Given the description of an element on the screen output the (x, y) to click on. 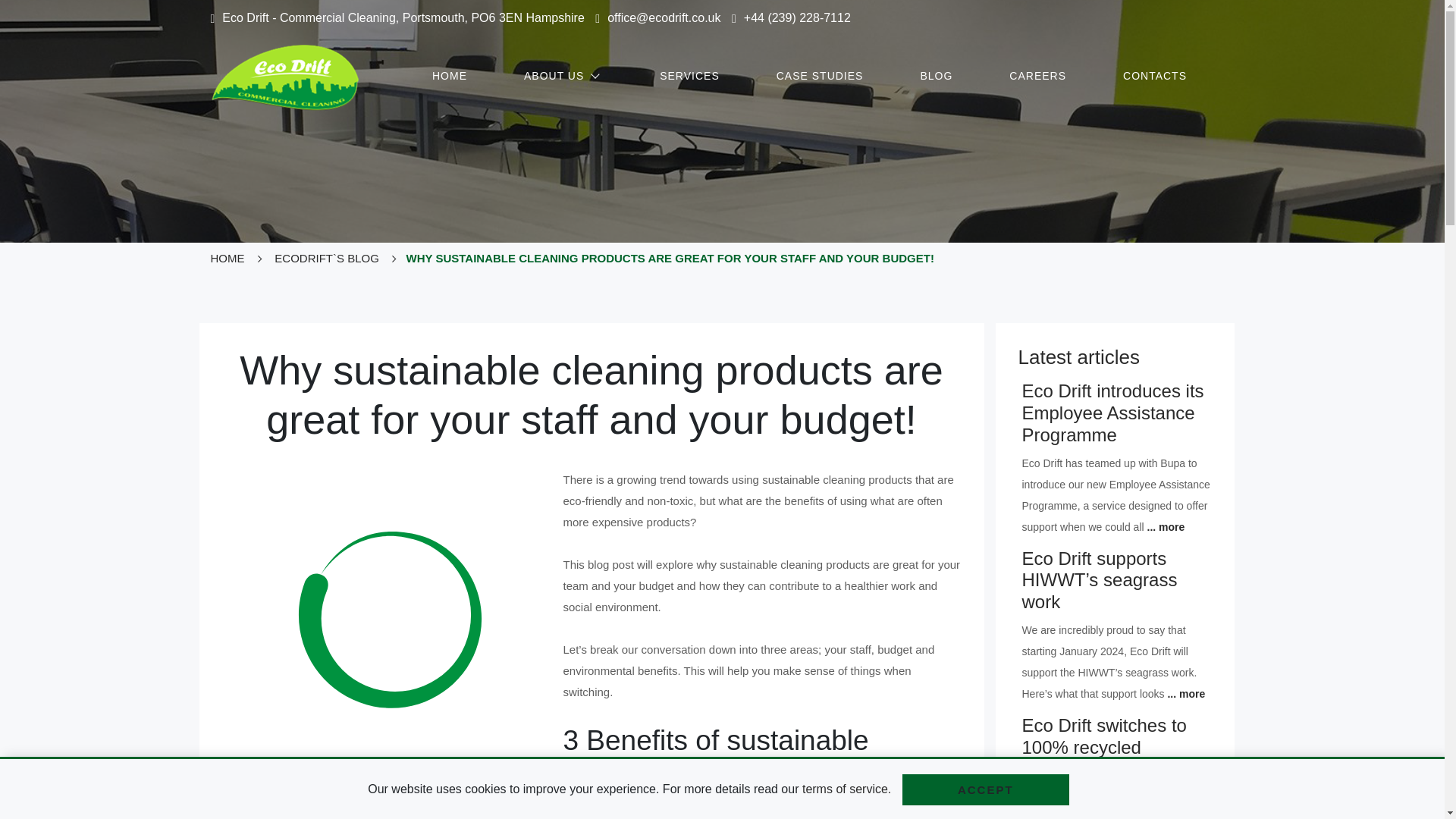
HOME (449, 75)
BLOG (935, 75)
Services (689, 75)
CONTACTS (1154, 75)
SERVICES (689, 75)
... more (1166, 526)
ABOUT US (563, 75)
... more (1186, 693)
EcoDrift (286, 76)
